Given the description of an element on the screen output the (x, y) to click on. 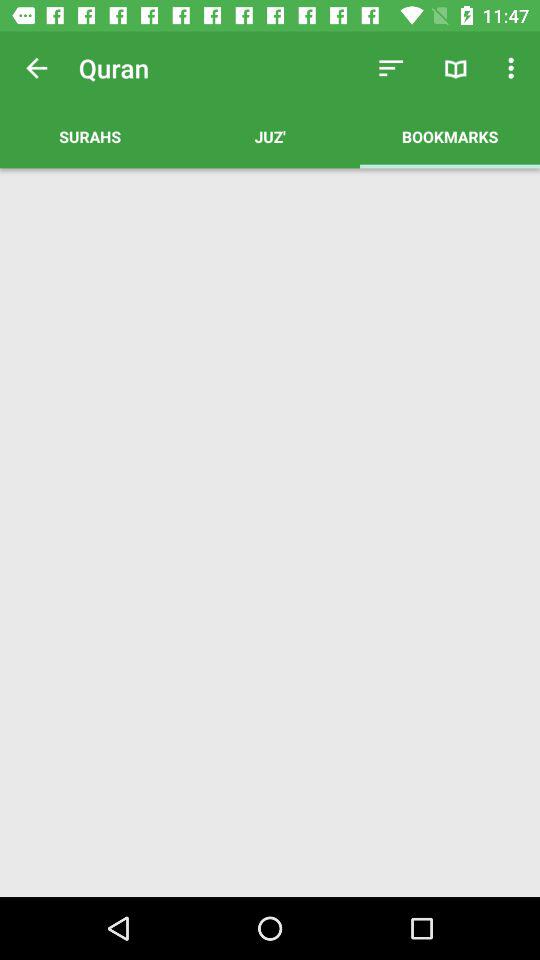
tap the item to the right of the surahs item (270, 136)
